Given the description of an element on the screen output the (x, y) to click on. 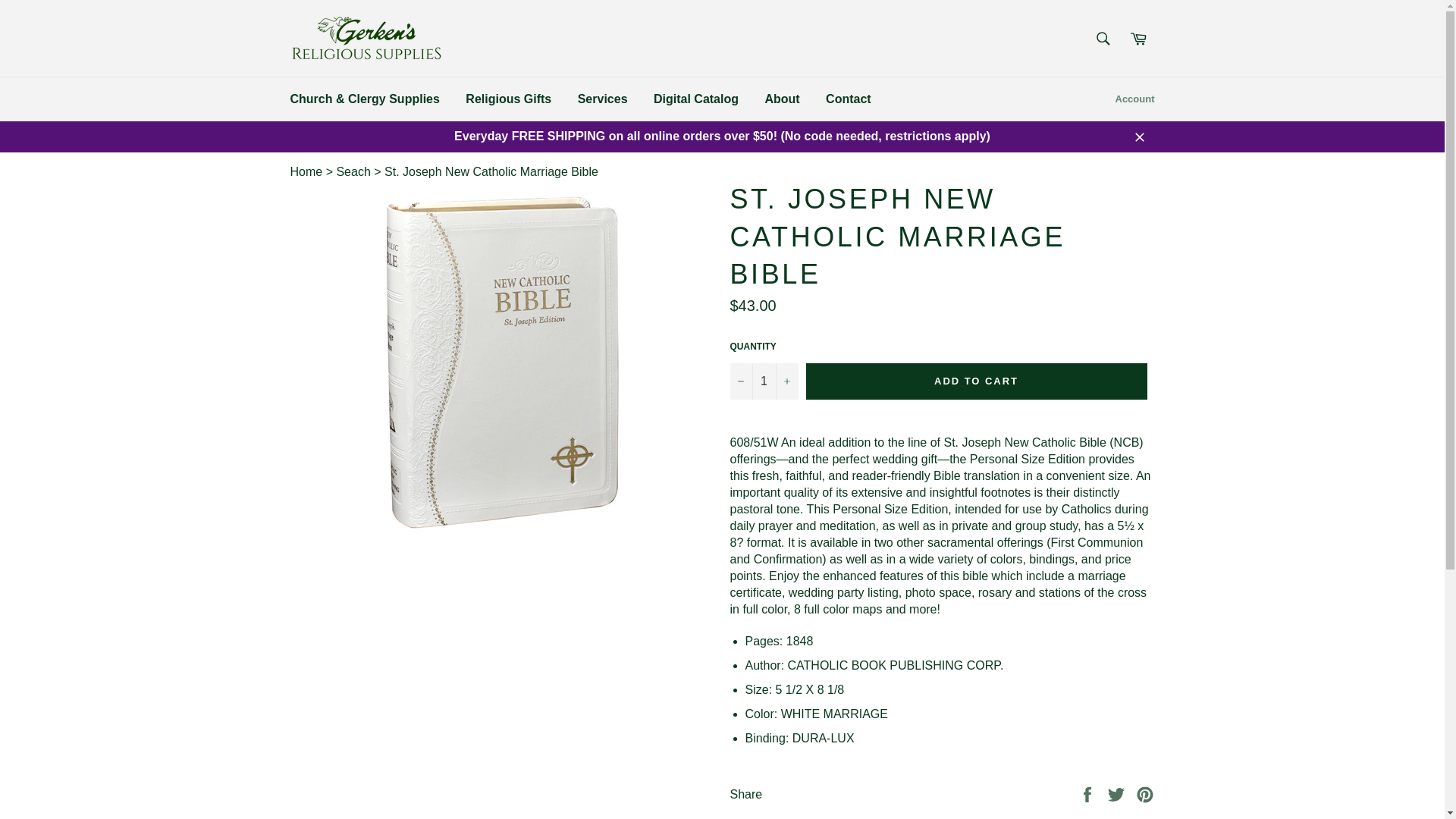
1 (763, 381)
Tweet on Twitter (1117, 793)
Pin on Pinterest (1144, 793)
Share on Facebook (1088, 793)
